Given the description of an element on the screen output the (x, y) to click on. 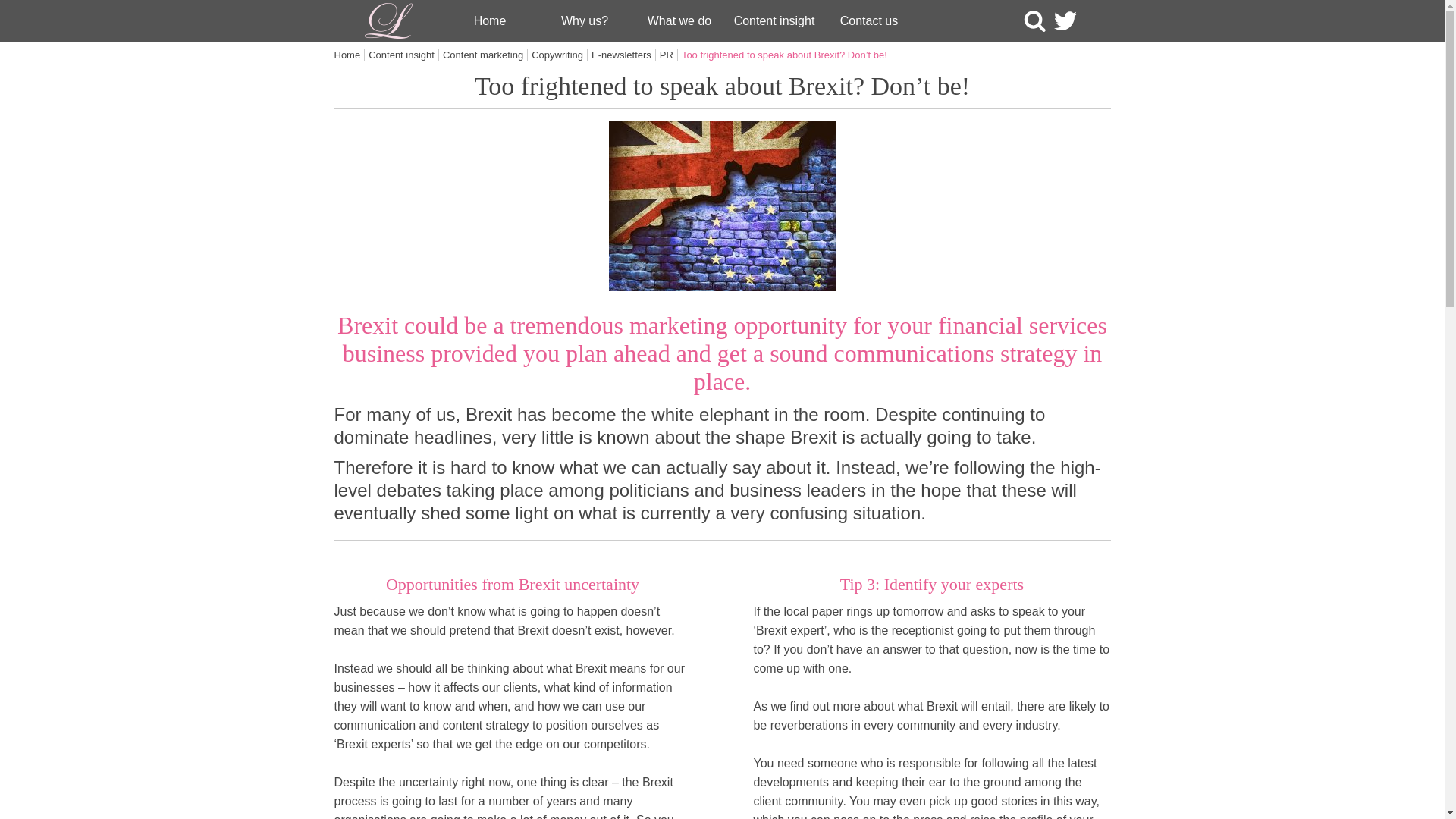
PR (668, 54)
E-newsletters (623, 54)
Search (1034, 20)
Home (349, 54)
Contact us (869, 20)
LinkedIn (1095, 20)
Home (489, 20)
Content insight (773, 20)
Content insight (403, 54)
What we do (678, 20)
